Given the description of an element on the screen output the (x, y) to click on. 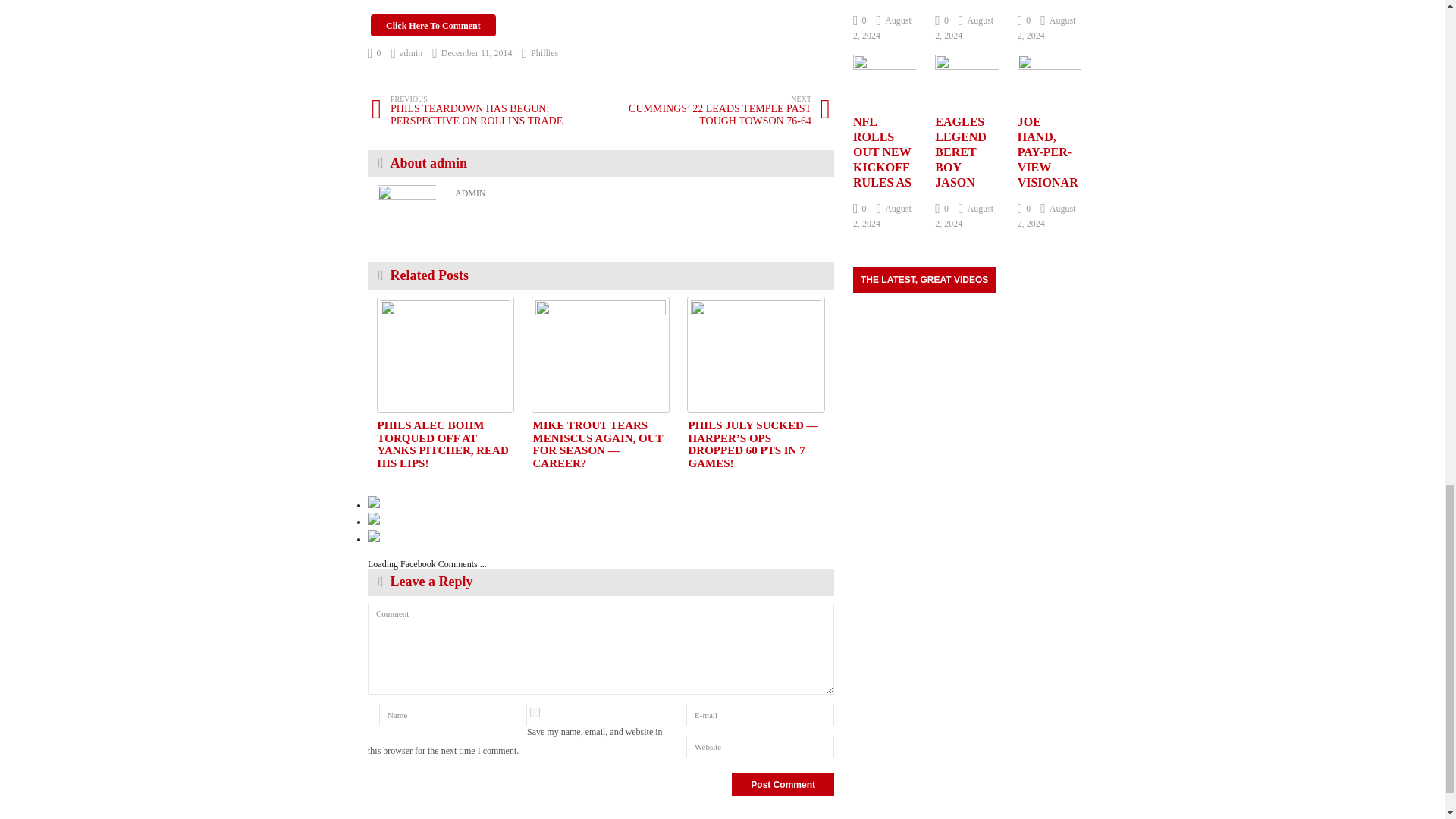
Post Comment (783, 784)
Click Here To Comment (433, 25)
yes (534, 712)
E-mail (759, 714)
Posts by admin (407, 52)
admin (407, 52)
Phillies (544, 52)
0 (374, 52)
PHILS ALEC BOHM TORQUED OFF AT YANKS PITCHER, READ HIS LIPS! (445, 354)
